Given the description of an element on the screen output the (x, y) to click on. 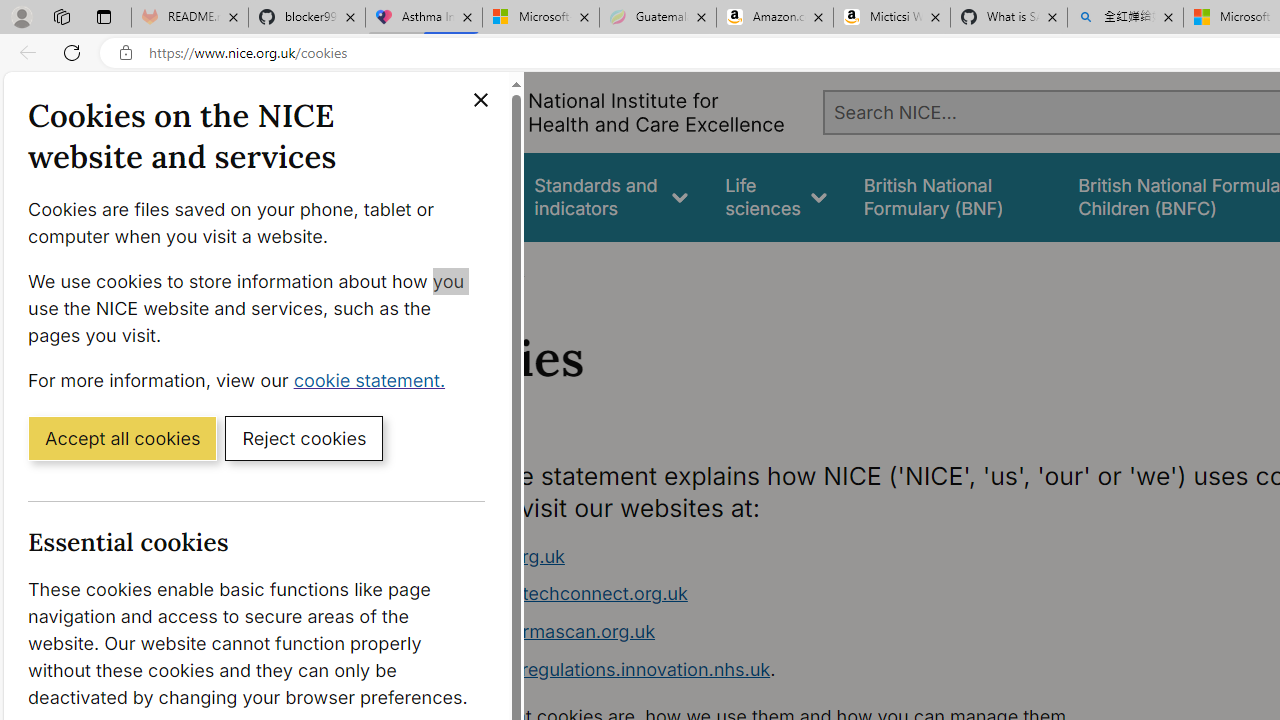
Microsoft-Report a Concern to Bing (540, 17)
cookie statement. (Opens in a new window) (373, 379)
About (498, 268)
